Given the description of an element on the screen output the (x, y) to click on. 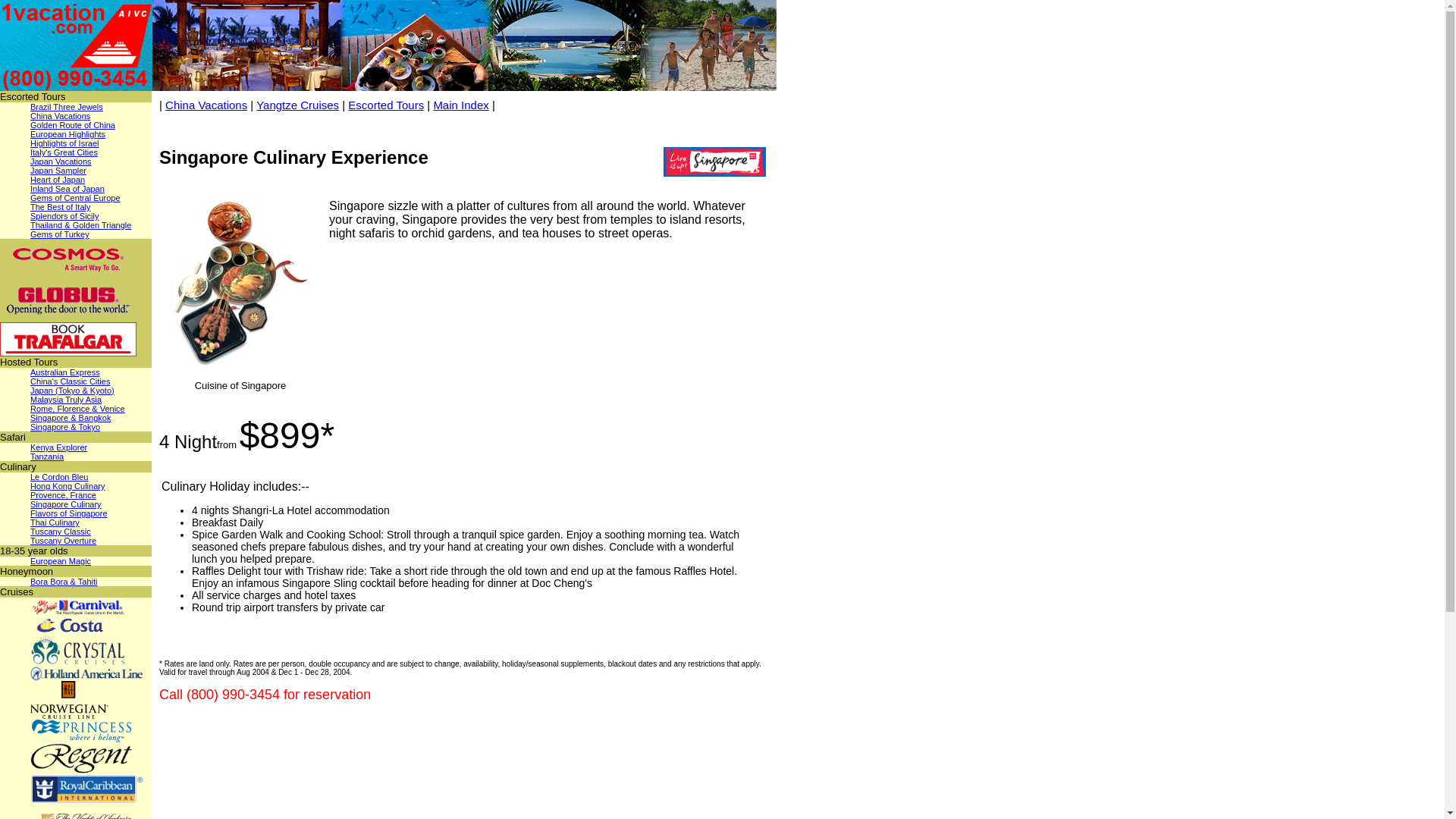
Tanzania Element type: text (46, 456)
Thailand & Golden Triangle Element type: text (80, 224)
Flavors of Singapore Element type: text (68, 512)
Escorted Tours Element type: text (385, 104)
Splendors of Sicily Element type: text (64, 215)
Tuscany Classic Element type: text (60, 531)
Gems of Turkey Element type: text (59, 233)
Tuscany Overture Element type: text (63, 540)
Singapore Culinary Element type: text (65, 503)
China Vacations Element type: text (60, 115)
Kenya Explorer Element type: text (58, 446)
Italy's Great Cities Element type: text (63, 151)
Hong Kong Culinary Element type: text (67, 485)
Japan (Tokyo & Kyoto) Element type: text (72, 390)
Rome, Florence & Venice Element type: text (77, 408)
China's Classic Cities Element type: text (69, 380)
European Magic Element type: text (60, 560)
European Highlights Element type: text (67, 133)
Brazil Three Jewels Element type: text (66, 106)
Main Index Element type: text (460, 104)
Le Cordon Bleu Element type: text (58, 476)
Yangtze Cruises Element type: text (297, 104)
Inland Sea of Japan Element type: text (67, 188)
Malaysia Truly Asia Element type: text (65, 399)
Singapore & Tokyo Element type: text (65, 426)
Bora Bora & Tahiti Element type: text (63, 581)
Gems of Central Europe Element type: text (75, 197)
Provence, France Element type: text (63, 494)
The Best of Italy Element type: text (60, 206)
Heart of Japan Element type: text (57, 179)
Australian Express Element type: text (65, 371)
Golden Route of China Element type: text (72, 124)
Japan Vacations Element type: text (60, 161)
Highlights of Israel Element type: text (64, 142)
Thai Culinary Element type: text (54, 522)
Japan Sampler Element type: text (58, 170)
Singapore & Bangkok Element type: text (70, 417)
China Vacations Element type: text (206, 104)
